Given the description of an element on the screen output the (x, y) to click on. 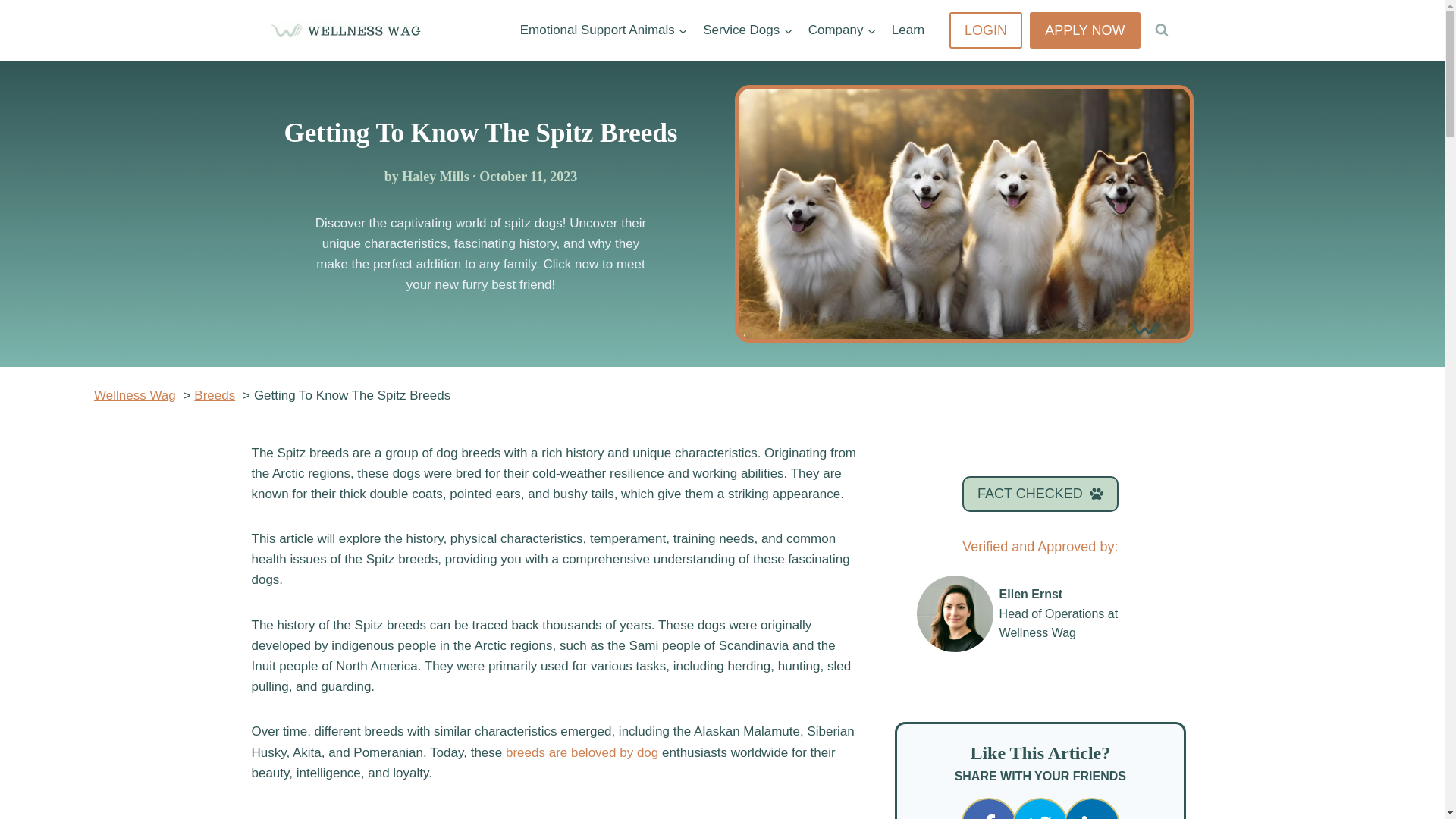
breeds are beloved by dog (581, 752)
Service Dogs (747, 30)
APPLY NOW (1084, 29)
Learn (908, 30)
Emotional Support Animals (603, 30)
Company (841, 30)
Breeds (213, 395)
LOGIN (985, 29)
Wellness Wag (135, 395)
